Given the description of an element on the screen output the (x, y) to click on. 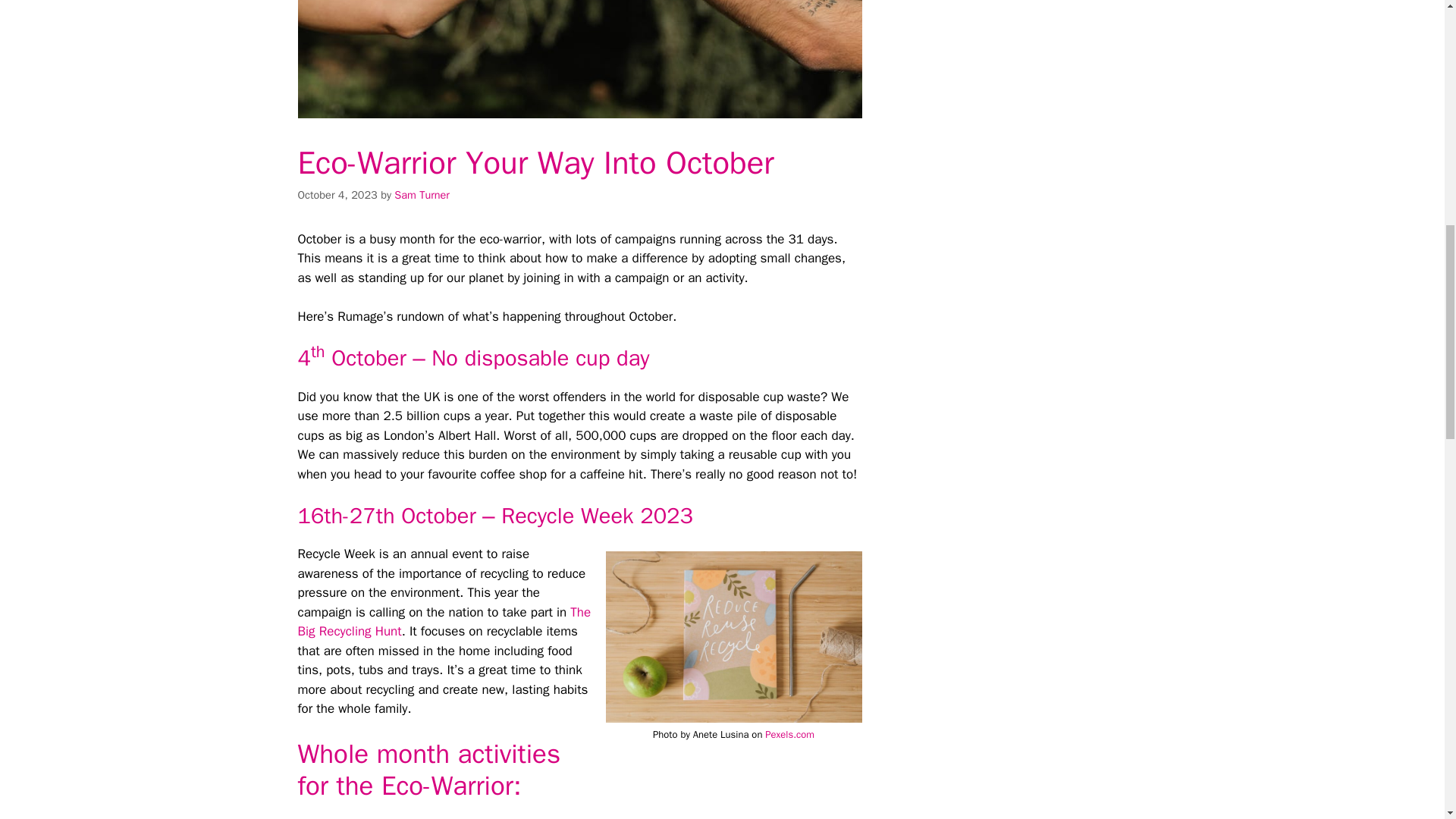
View all posts by Sam Turner (421, 194)
The Big Recycling Hunt (444, 621)
Pexels.com (789, 734)
Sam Turner (421, 194)
